Given the description of an element on the screen output the (x, y) to click on. 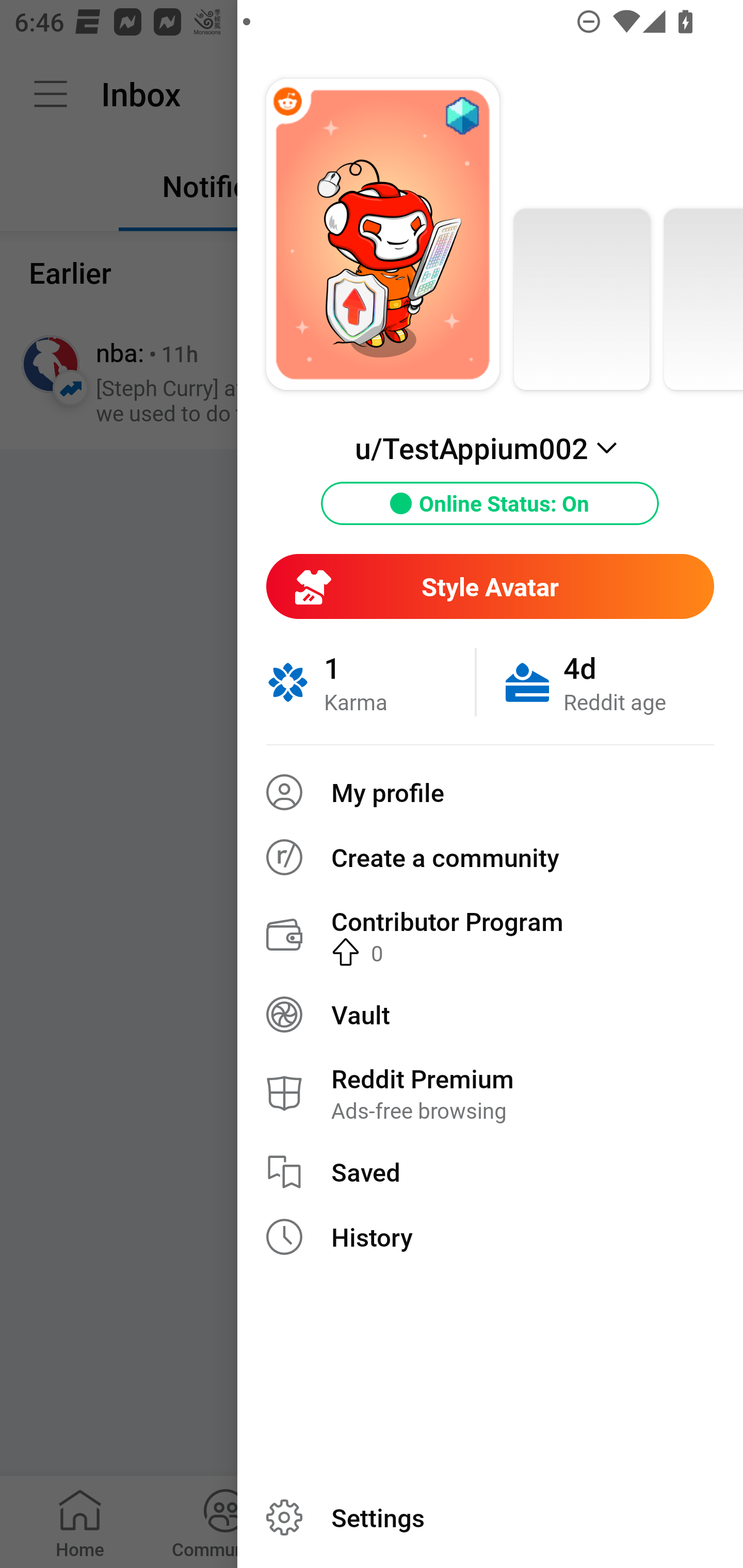
u/TestAppium002 (489, 447)
Online Status: On (489, 503)
Style Avatar (489, 586)
1 Karma 1 Karma (369, 681)
My profile (490, 792)
Create a community (490, 856)
Contributor Program Contributor Program 0 (490, 935)
Vault (490, 1014)
Saved (490, 1171)
History (490, 1237)
Settings (490, 1517)
